Given the description of an element on the screen output the (x, y) to click on. 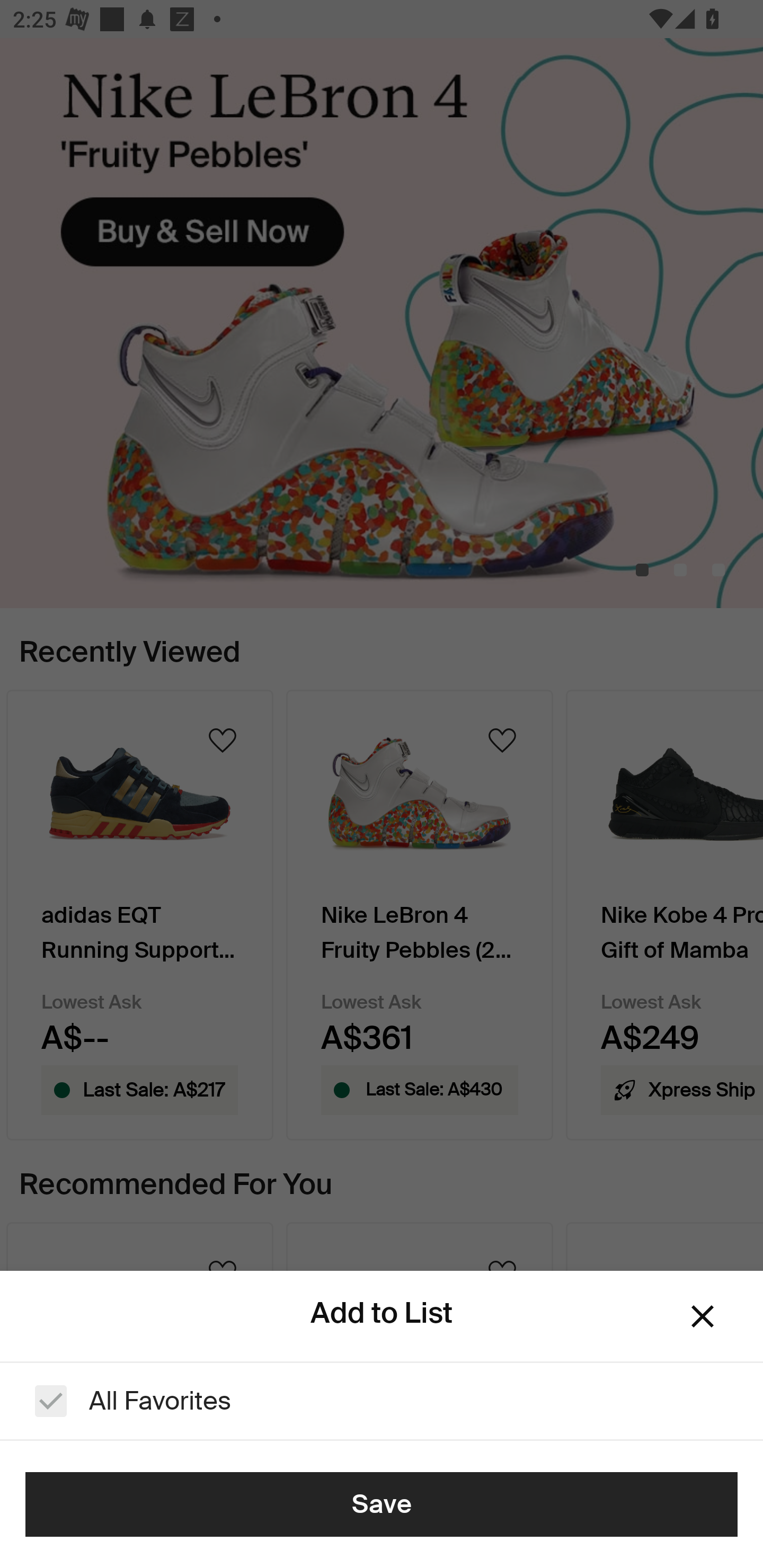
Dismiss (702, 1315)
All Favorites (381, 1400)
Save (381, 1504)
